Given the description of an element on the screen output the (x, y) to click on. 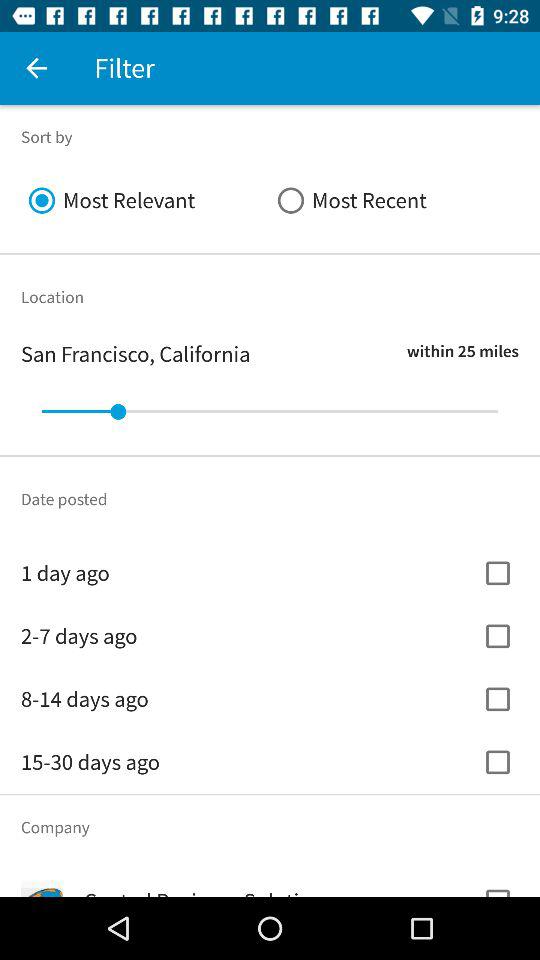
tap item to the left of filter item (36, 68)
